Given the description of an element on the screen output the (x, y) to click on. 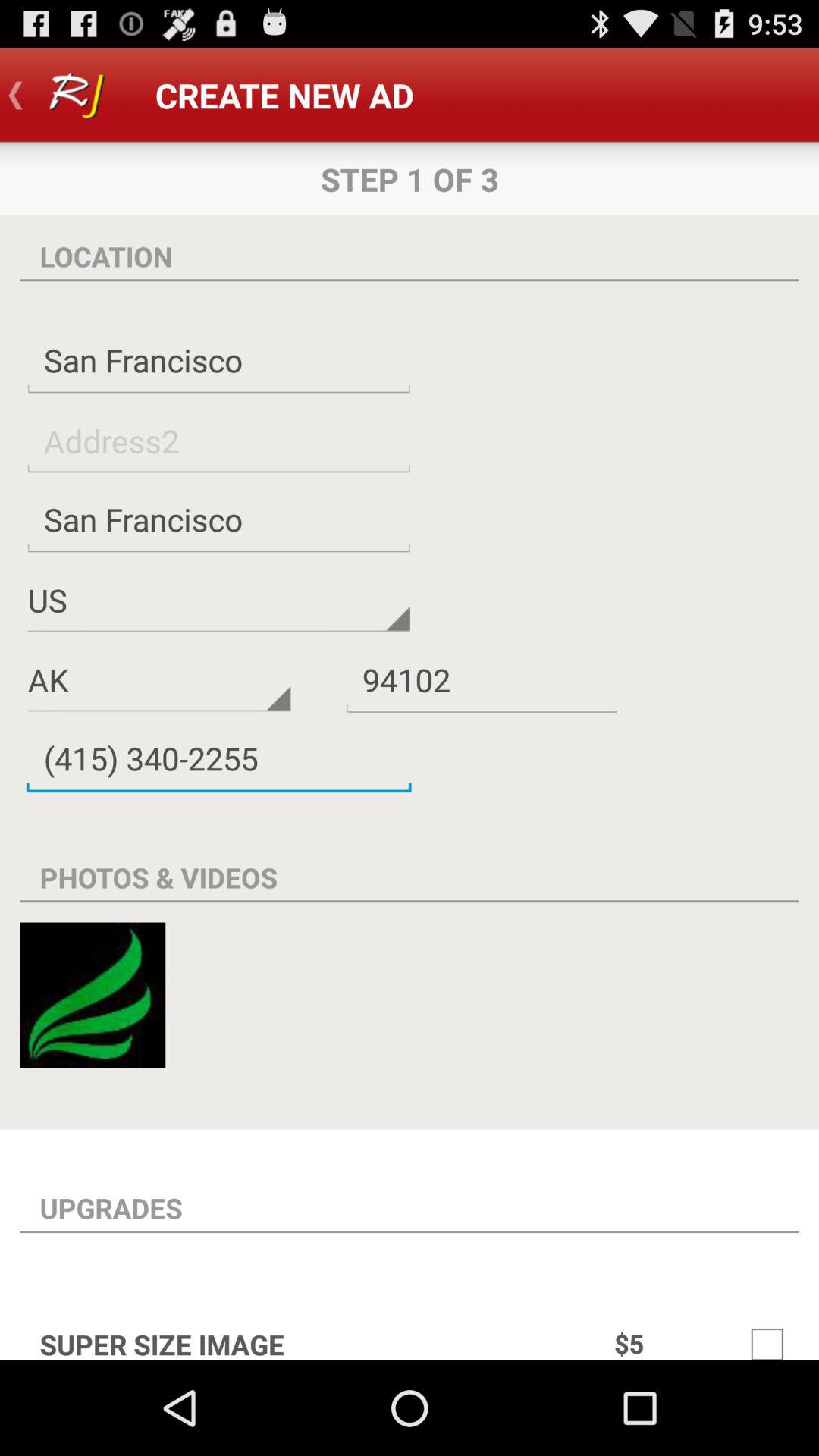
mark to select (767, 1336)
